Given the description of an element on the screen output the (x, y) to click on. 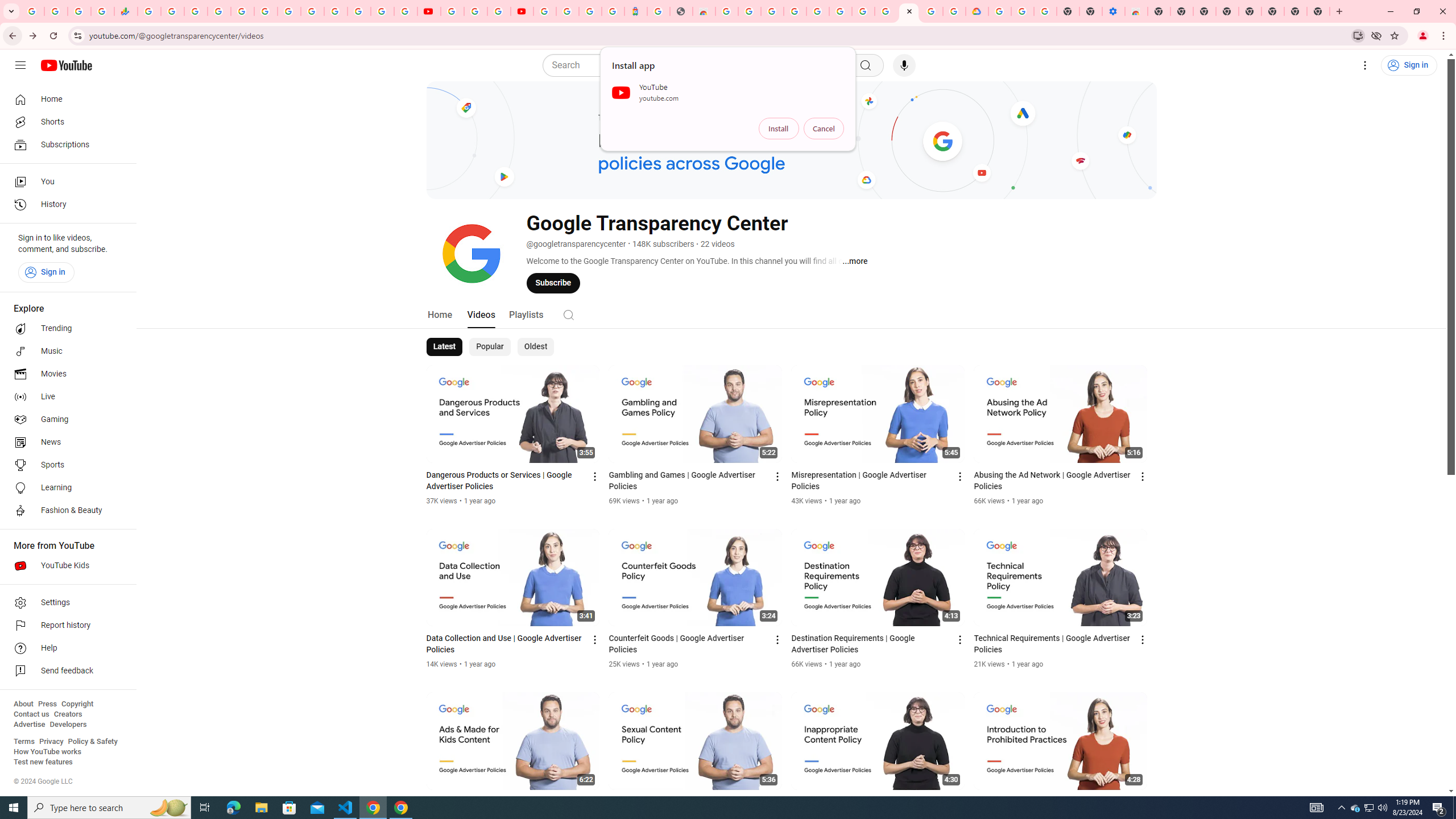
Advertise (29, 724)
Latest (444, 346)
Home (440, 314)
Sign in - Google Accounts (567, 11)
Copyright (77, 703)
Sign in - Google Accounts (999, 11)
Chrome Web Store - Accessibility extensions (1136, 11)
YouTube (428, 11)
Search (567, 314)
Content Creator Programs & Opportunities - YouTube Creators (521, 11)
Oldest (534, 346)
